Given the description of an element on the screen output the (x, y) to click on. 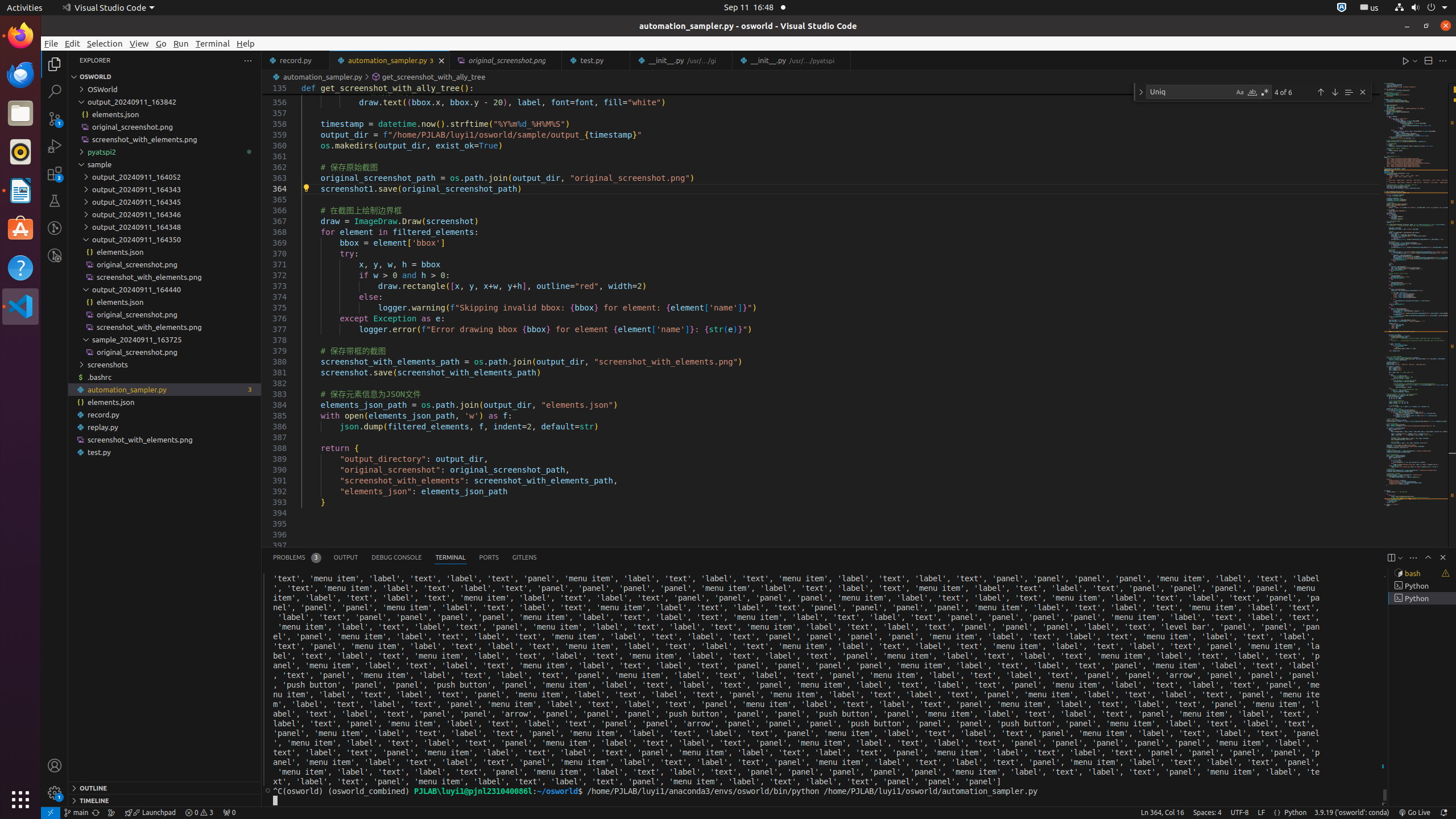
Terminal Element type: push-button (212, 43)
Spaces: 4 Element type: push-button (1206, 812)
Find in Selection (Alt+L) Element type: check-box (1348, 91)
Launch Profile... Element type: push-button (1399, 557)
Outline Section Element type: push-button (164, 787)
